Given the description of an element on the screen output the (x, y) to click on. 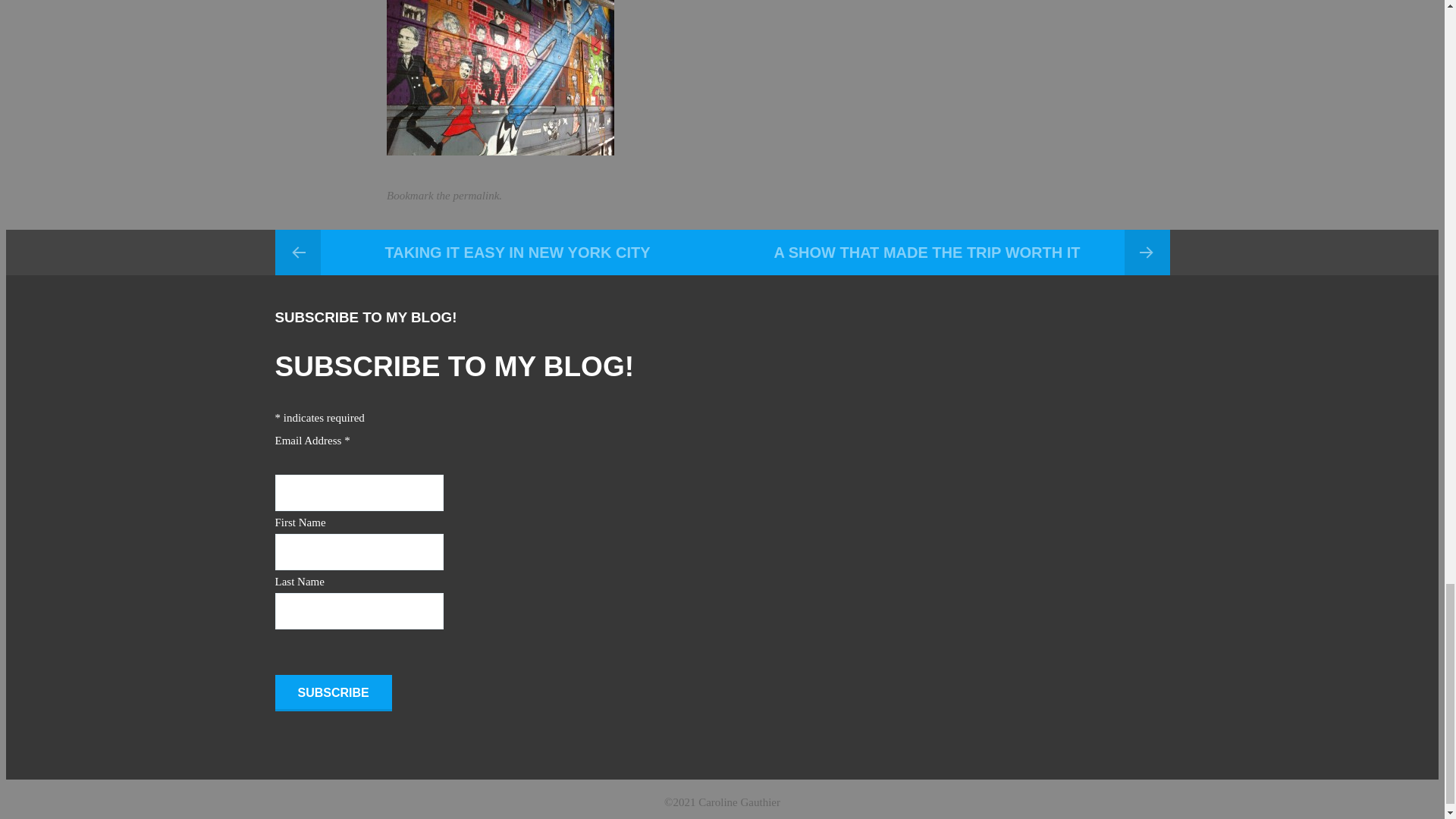
Bookmark the permalink. (444, 195)
Subscribe (333, 692)
TAKING IT EASY IN NEW YORK CITY (498, 252)
Subscribe (333, 692)
A SHOW THAT MADE THE TRIP WORTH IT (945, 252)
